Given the description of an element on the screen output the (x, y) to click on. 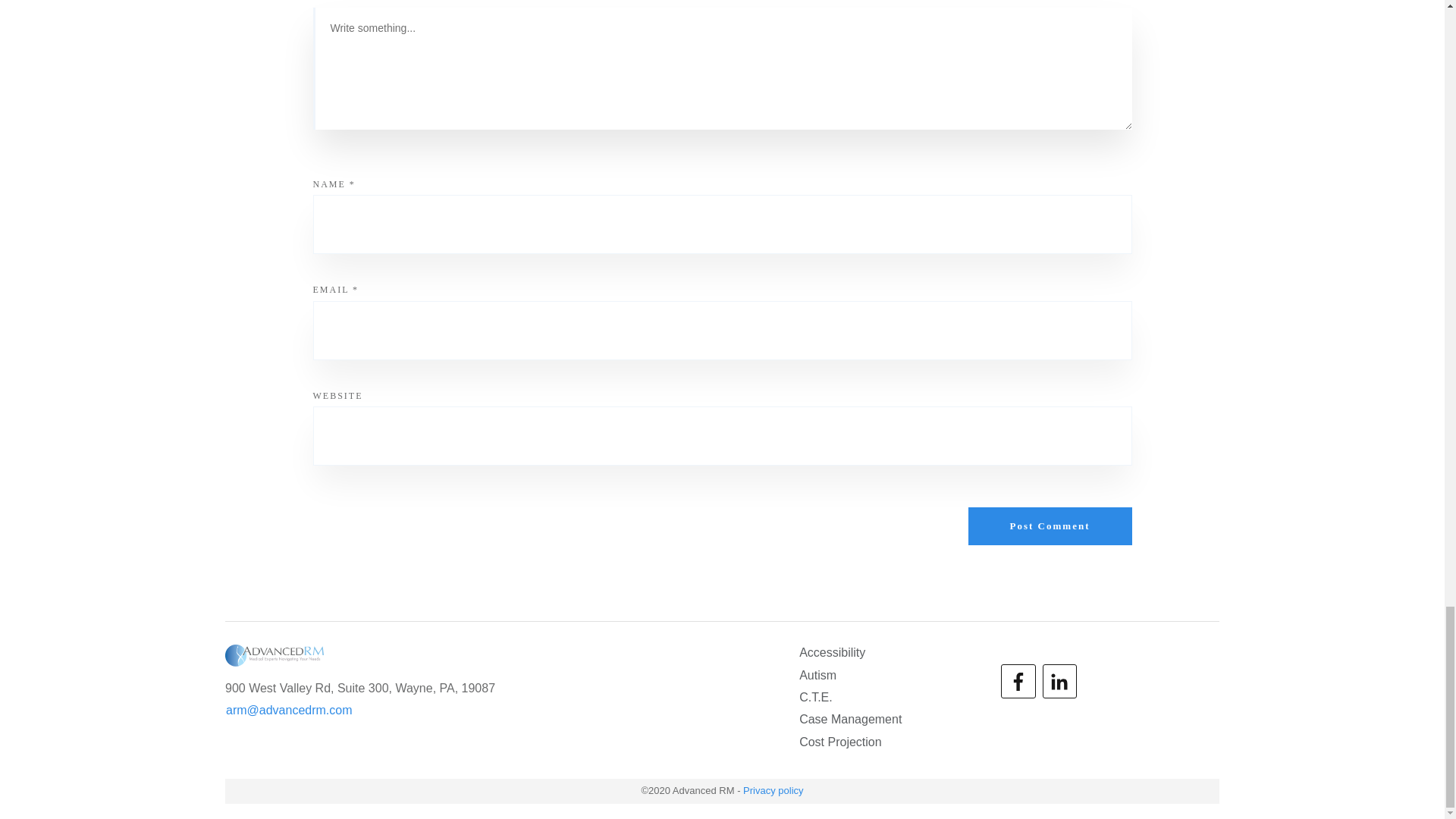
Post Comment (1049, 525)
C.T.E. (815, 697)
Accessibility (831, 652)
Autism (817, 675)
